Given the description of an element on the screen output the (x, y) to click on. 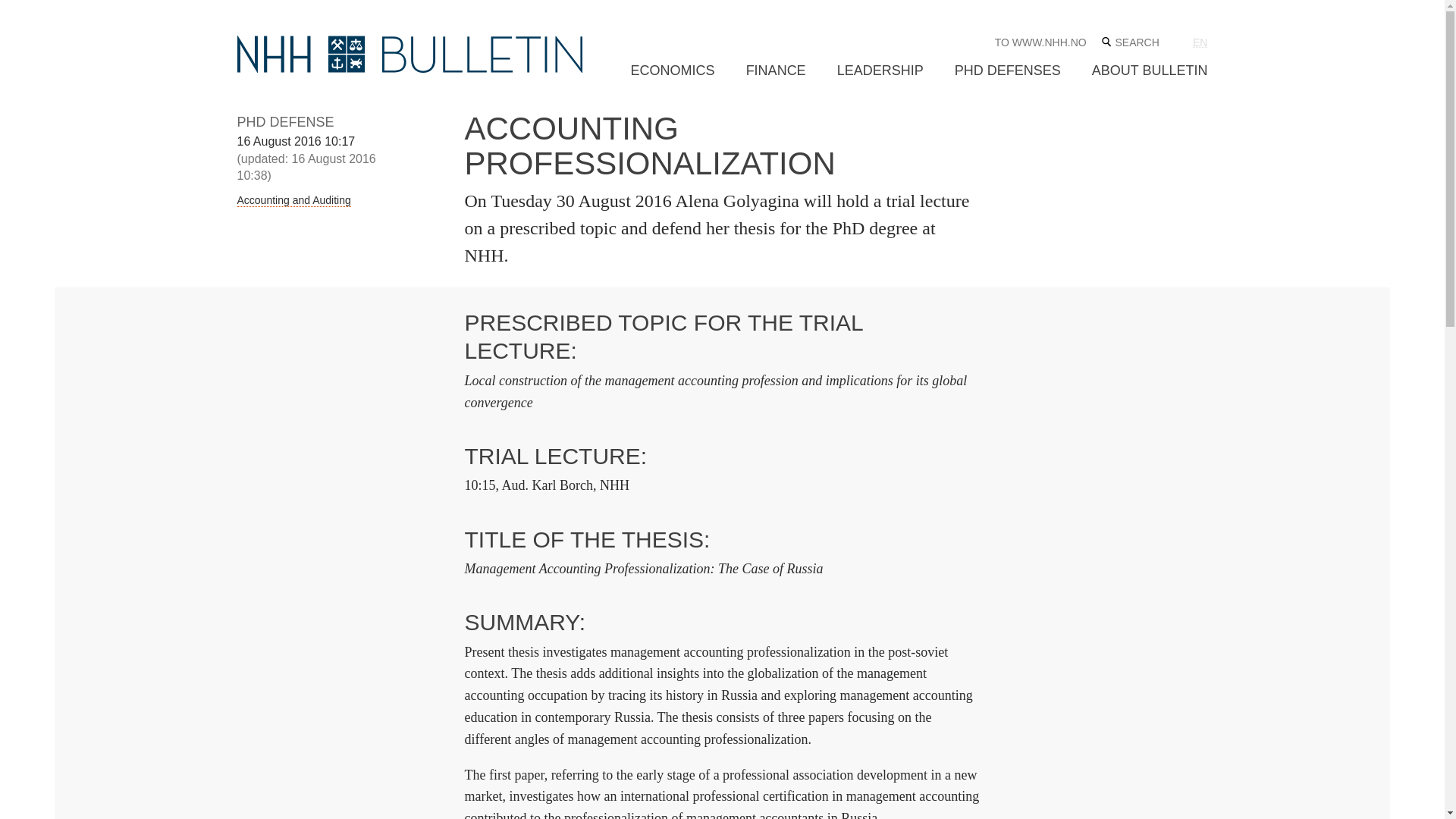
ABOUT BULLETIN (1150, 71)
EN (1199, 41)
TO WWW.NHH.NO (1040, 41)
LEADERSHIP (880, 71)
PHD DEFENSES (1008, 71)
FINANCE (775, 71)
Accounting and Auditing (292, 200)
English (1199, 42)
ECONOMICS (672, 71)
